Given the description of an element on the screen output the (x, y) to click on. 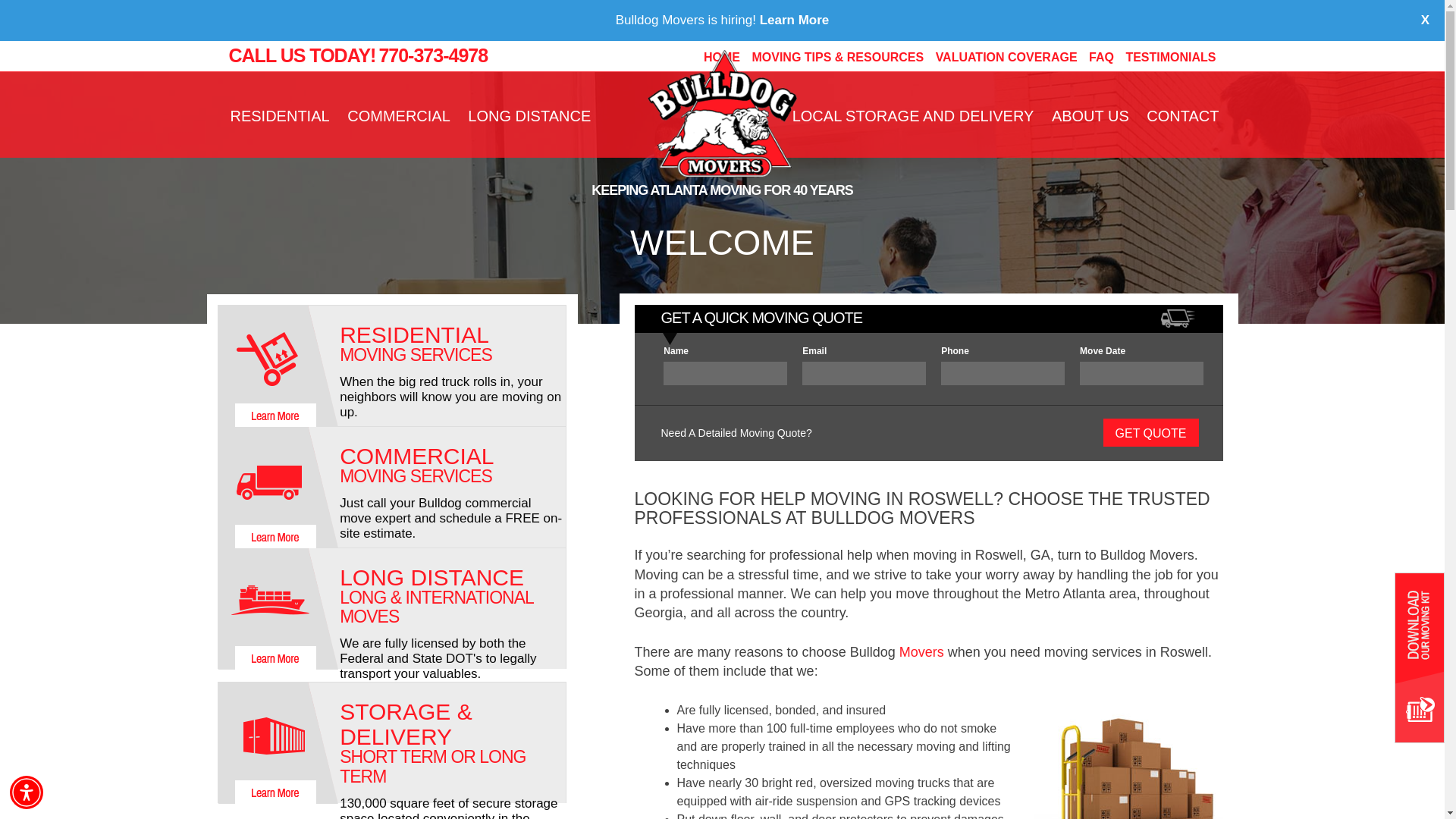
X (1412, 28)
VALUATION COVERAGE (1006, 56)
LONG DISTANCE (529, 115)
CONTACT (1182, 115)
COMMERCIAL (398, 115)
Learn More (794, 20)
RESIDENTIAL (280, 115)
LOCAL STORAGE AND DELIVERY (912, 115)
FAQ (1101, 56)
ABOUT US (1090, 115)
